Given the description of an element on the screen output the (x, y) to click on. 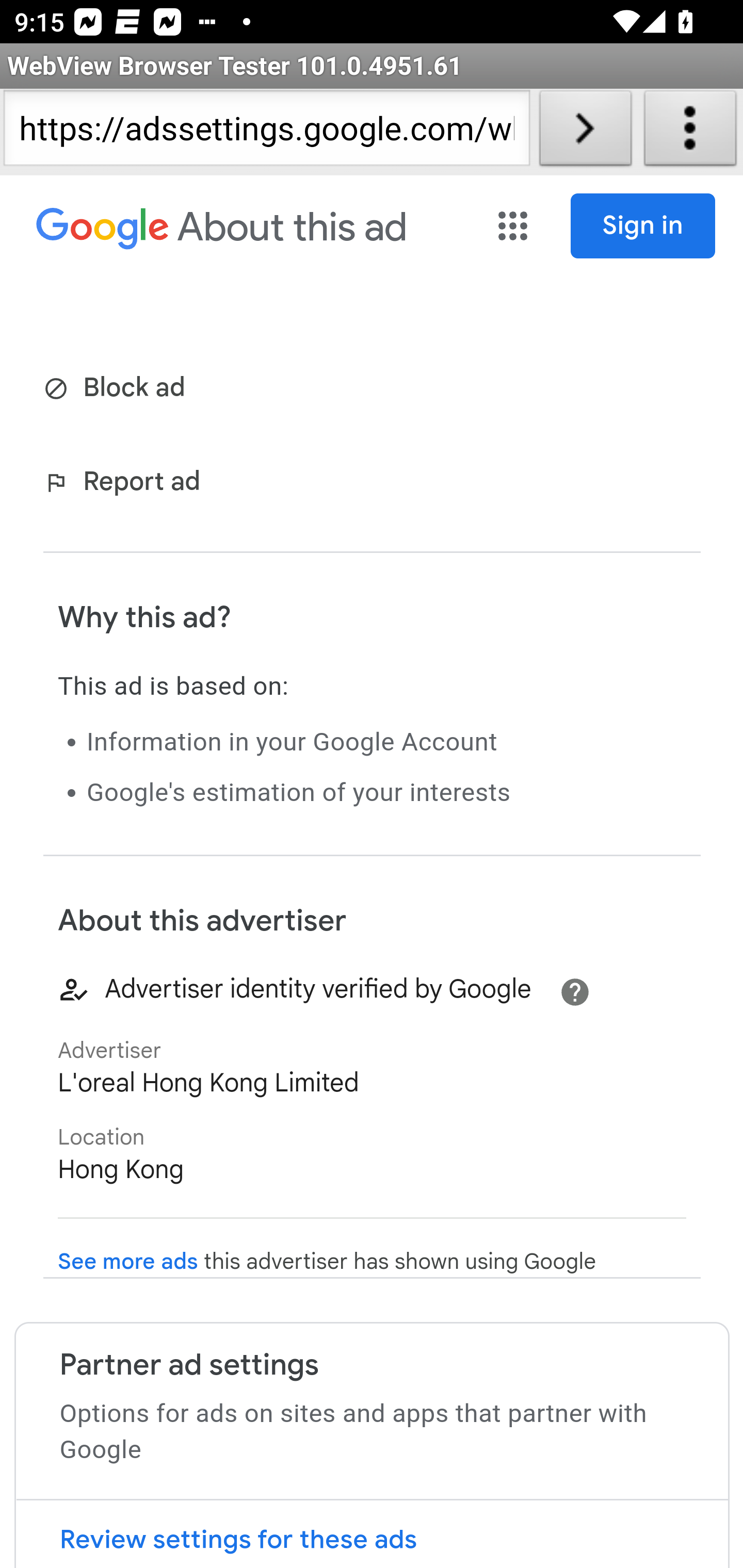
https://adssettings.google.com/whythisad (266, 132)
Load URL (585, 132)
About WebView (690, 132)
Google apps (514, 226)
Sign in (643, 226)
Block ad (117, 388)
Report ad (opens in new tab) Report ad (126, 483)
See more ads (opens in new tab) See more ads (127, 1262)
Review settings for these ads (371, 1534)
